Given the description of an element on the screen output the (x, y) to click on. 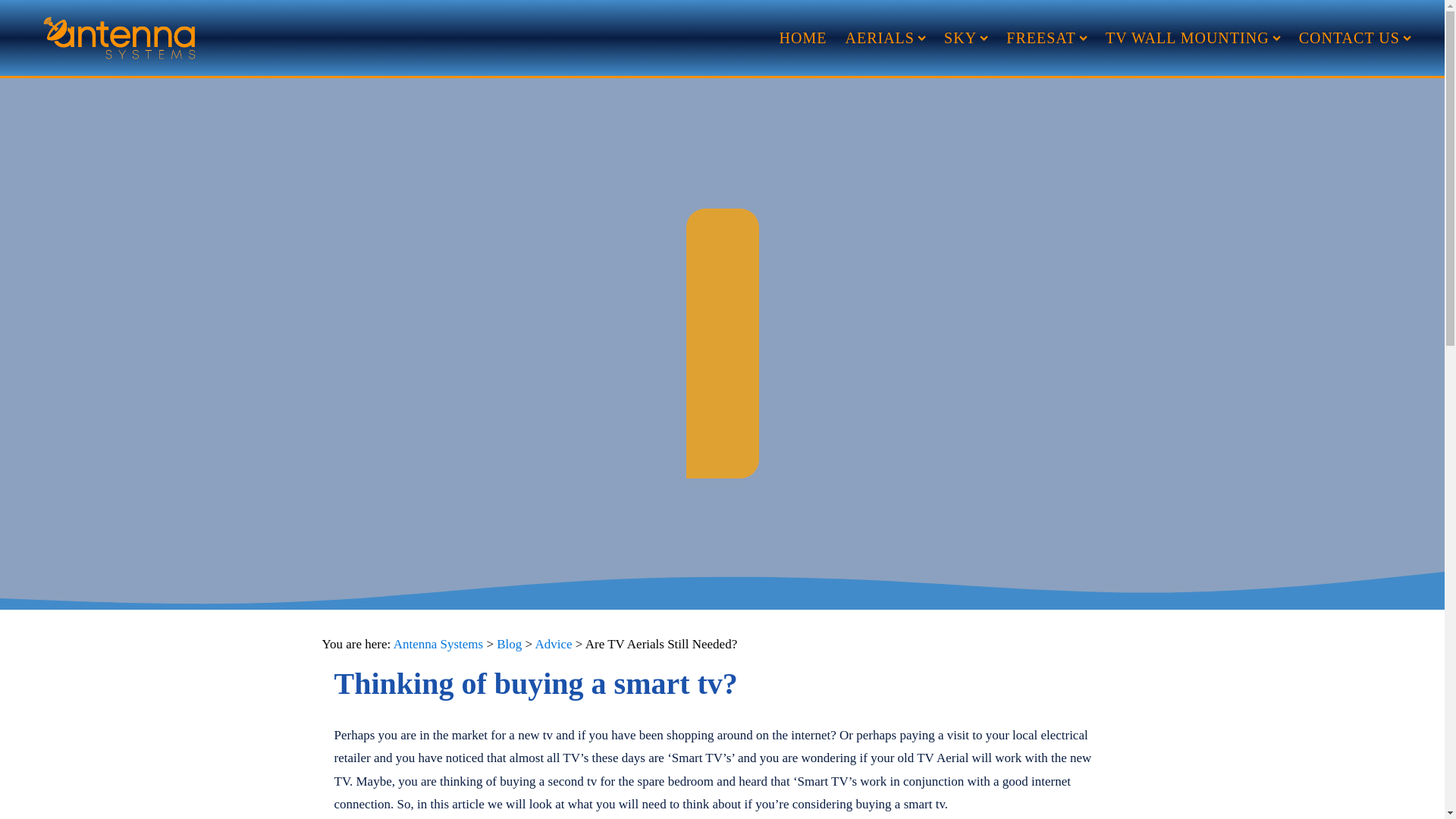
Antenna Systems (438, 644)
Go to Antenna Systems. (438, 644)
Advice (553, 644)
Go to Blog. (508, 644)
SKY (965, 38)
HOME (802, 38)
TV WALL MOUNTING (1193, 38)
Go to the Advice Category archives. (553, 644)
CONTACT US (1355, 38)
AERIALS (884, 38)
FREESAT (1046, 38)
Blog (508, 644)
